Given the description of an element on the screen output the (x, y) to click on. 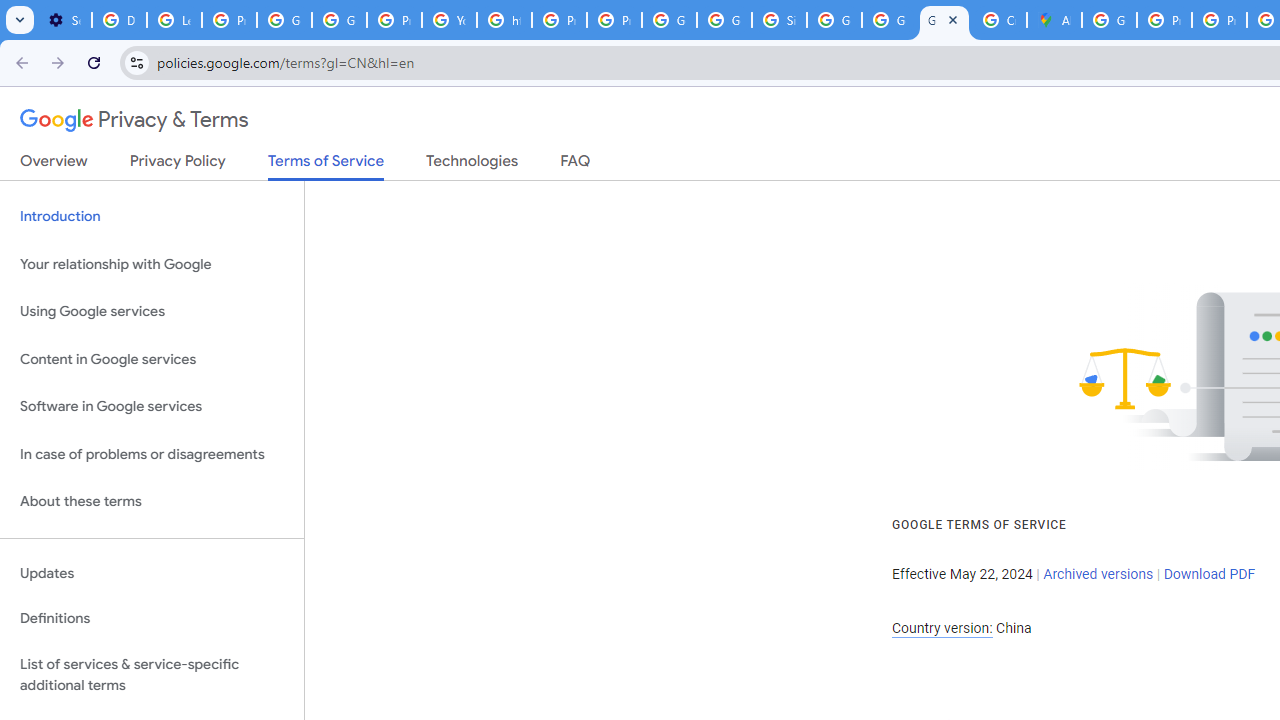
About these terms (152, 502)
Software in Google services (152, 407)
